Given the description of an element on the screen output the (x, y) to click on. 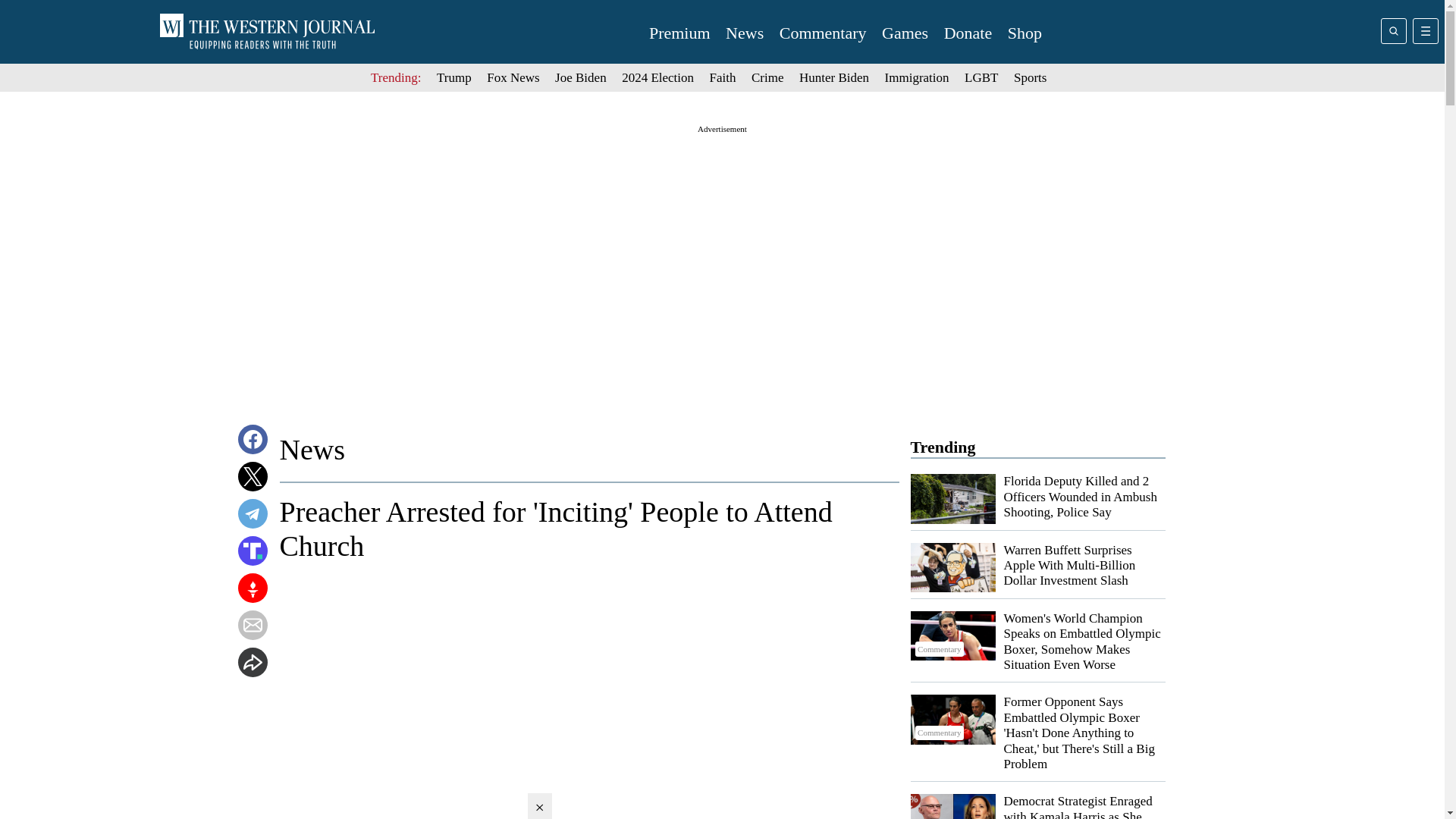
Commentary (952, 635)
Joe Biden (580, 77)
Crime (767, 77)
Hunter Biden (834, 77)
Trump (453, 77)
2024 Election (657, 77)
Shop (1024, 32)
Commentary (952, 806)
News (743, 32)
Sports (1029, 77)
Premium (679, 32)
LGBT (980, 77)
Commentary (822, 32)
Immigration (917, 77)
